Given the description of an element on the screen output the (x, y) to click on. 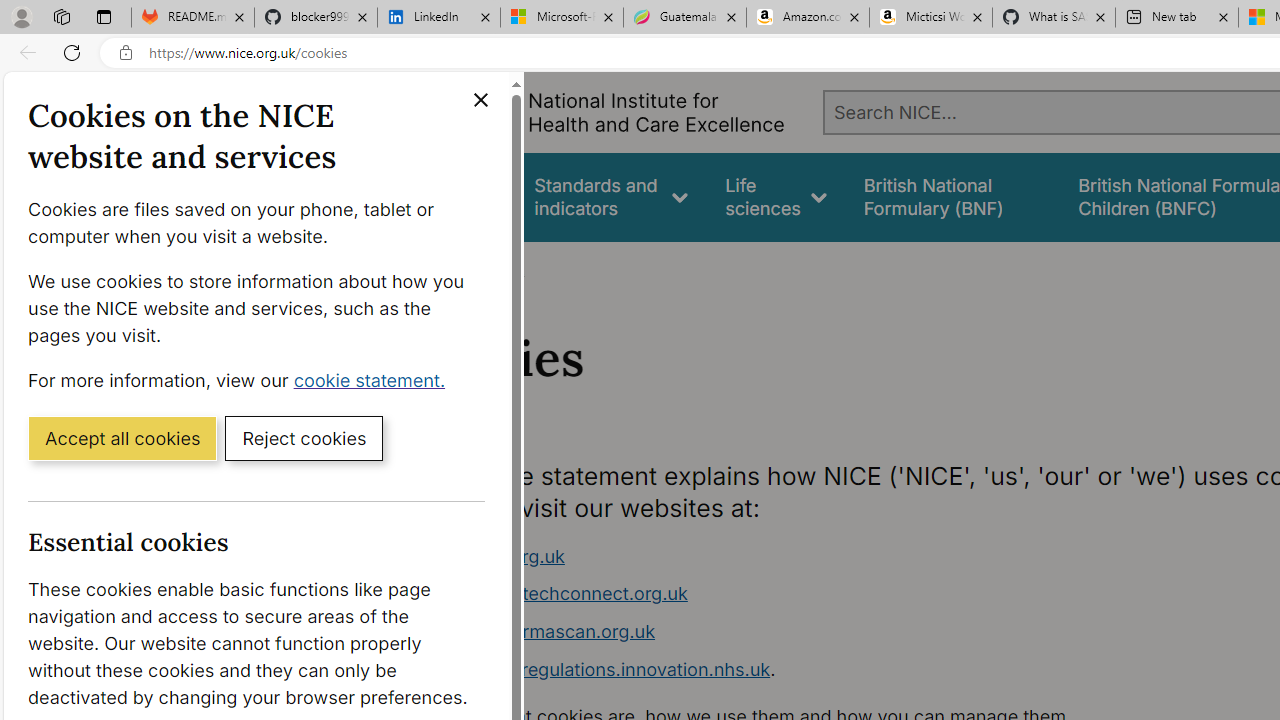
Reject cookies (304, 437)
Close cookie banner (480, 99)
Guidance (458, 196)
www.nice.org.uk (796, 556)
www.digitalregulations.innovation.nhs.uk (595, 668)
www.digitalregulations.innovation.nhs.uk. (796, 669)
LinkedIn (438, 17)
Life sciences (776, 196)
